Given the description of an element on the screen output the (x, y) to click on. 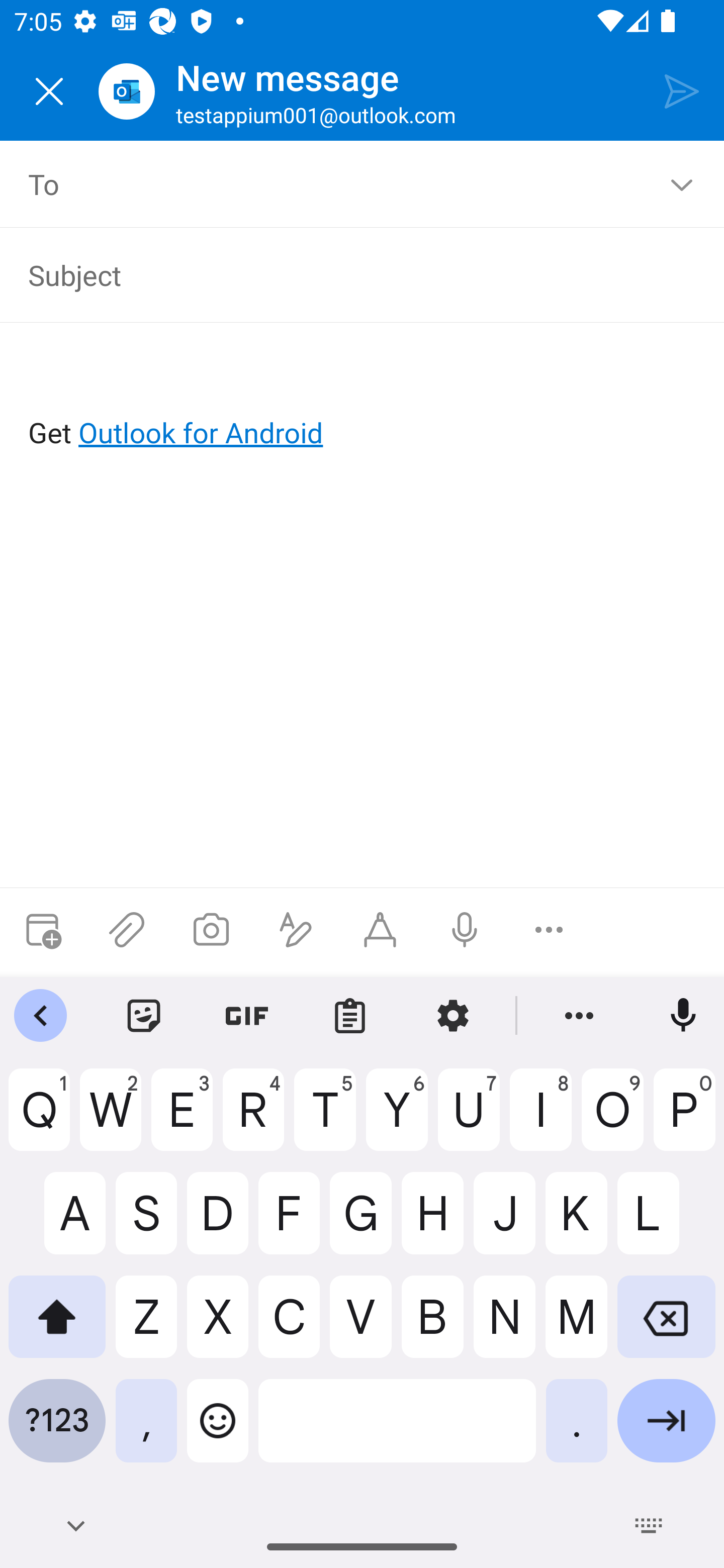
Close (49, 91)
Send (681, 90)
Subject (347, 274)


Get Outlook for Android (363, 400)
Attach meeting (42, 929)
Attach files (126, 929)
Take a photo (210, 929)
Show formatting options (295, 929)
Start Ink compose (380, 929)
Dictation (464, 929)
More options (548, 929)
